Given the description of an element on the screen output the (x, y) to click on. 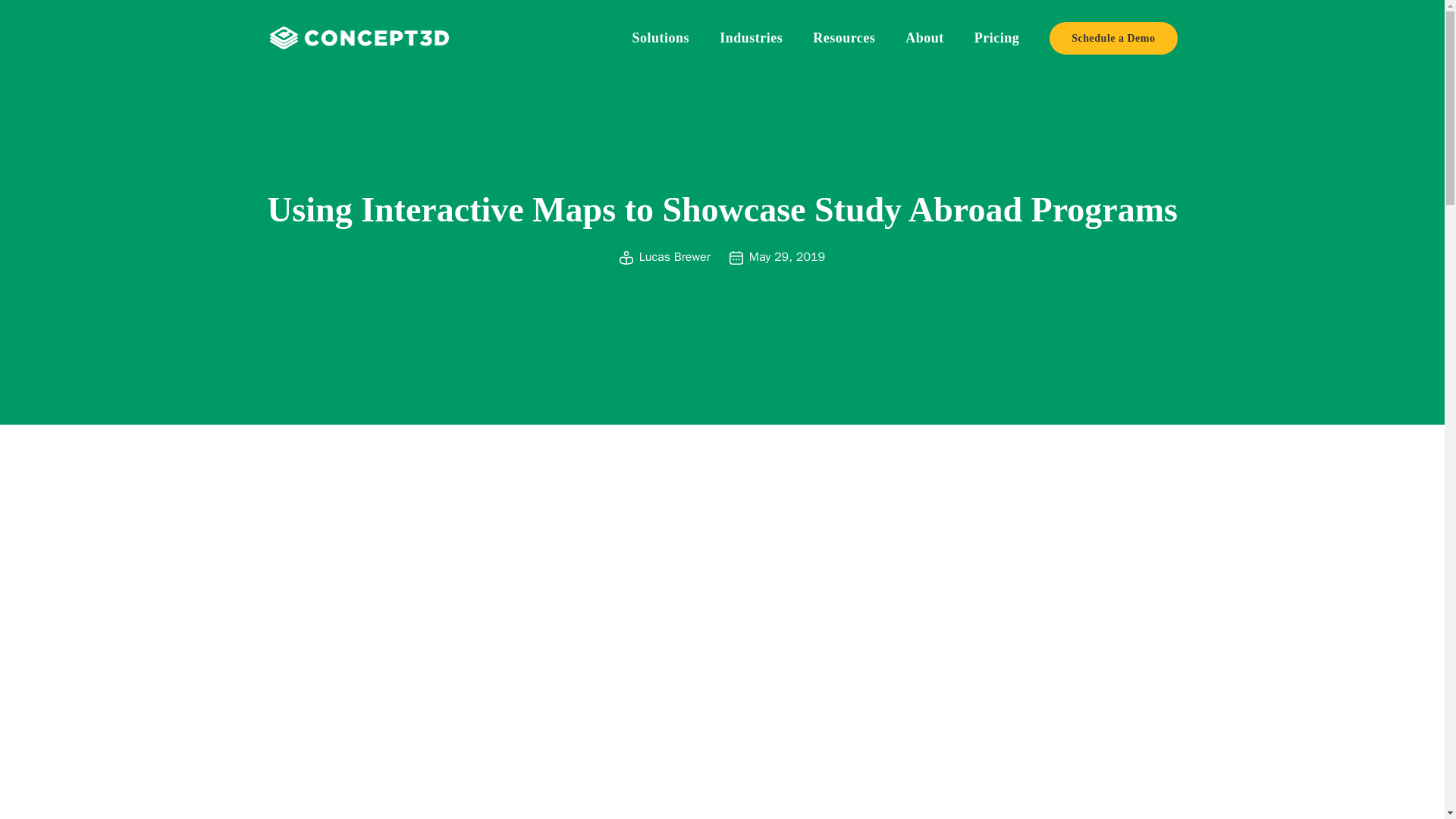
Industries (751, 37)
Pricing (997, 37)
Solutions (660, 37)
Resources (843, 37)
About (924, 37)
